Given the description of an element on the screen output the (x, y) to click on. 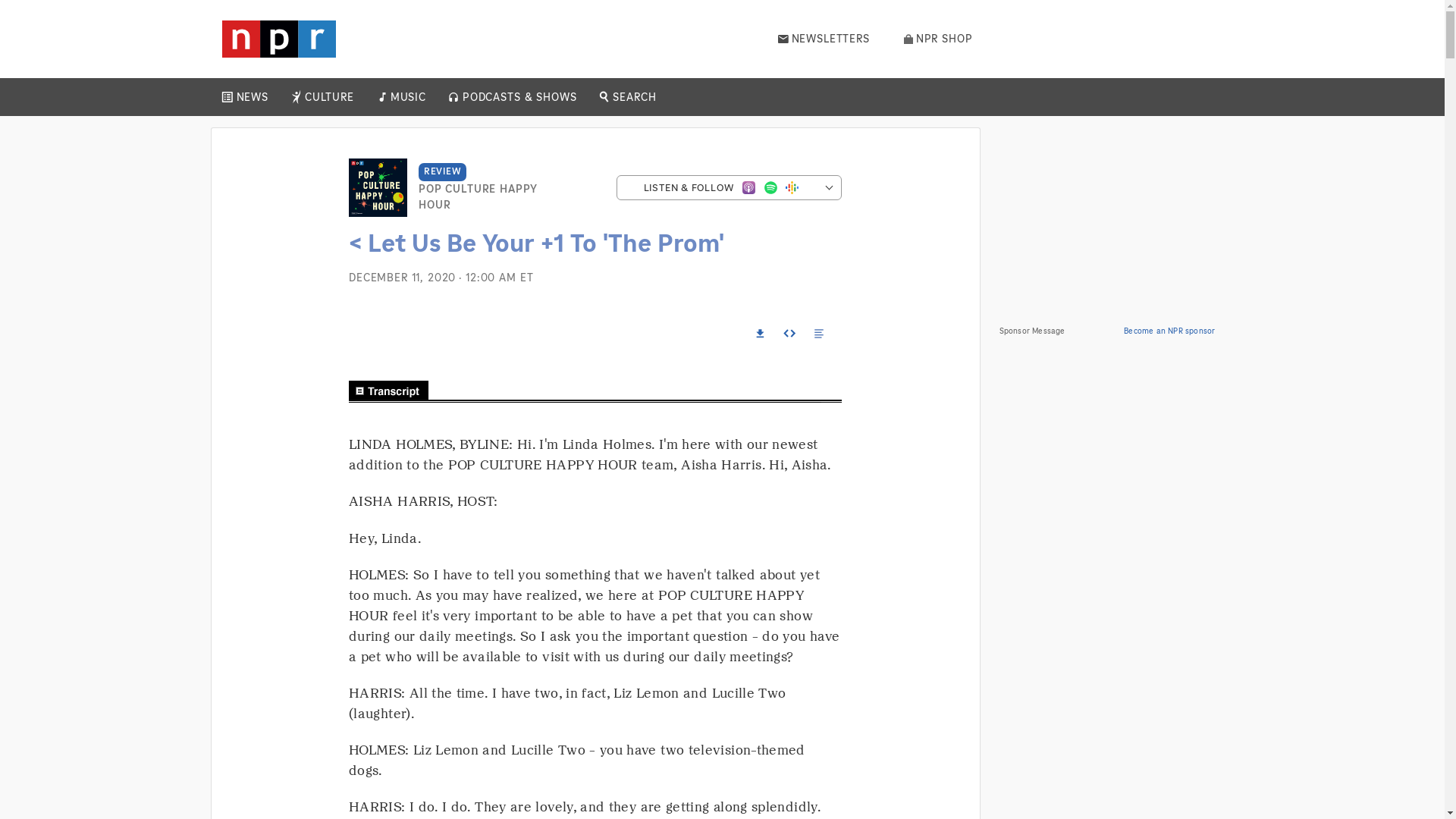
NPR SHOP (938, 38)
MUSIC (407, 96)
NEWSLETTERS (823, 38)
CULTURE (328, 96)
NEWS (251, 96)
